Given the description of an element on the screen output the (x, y) to click on. 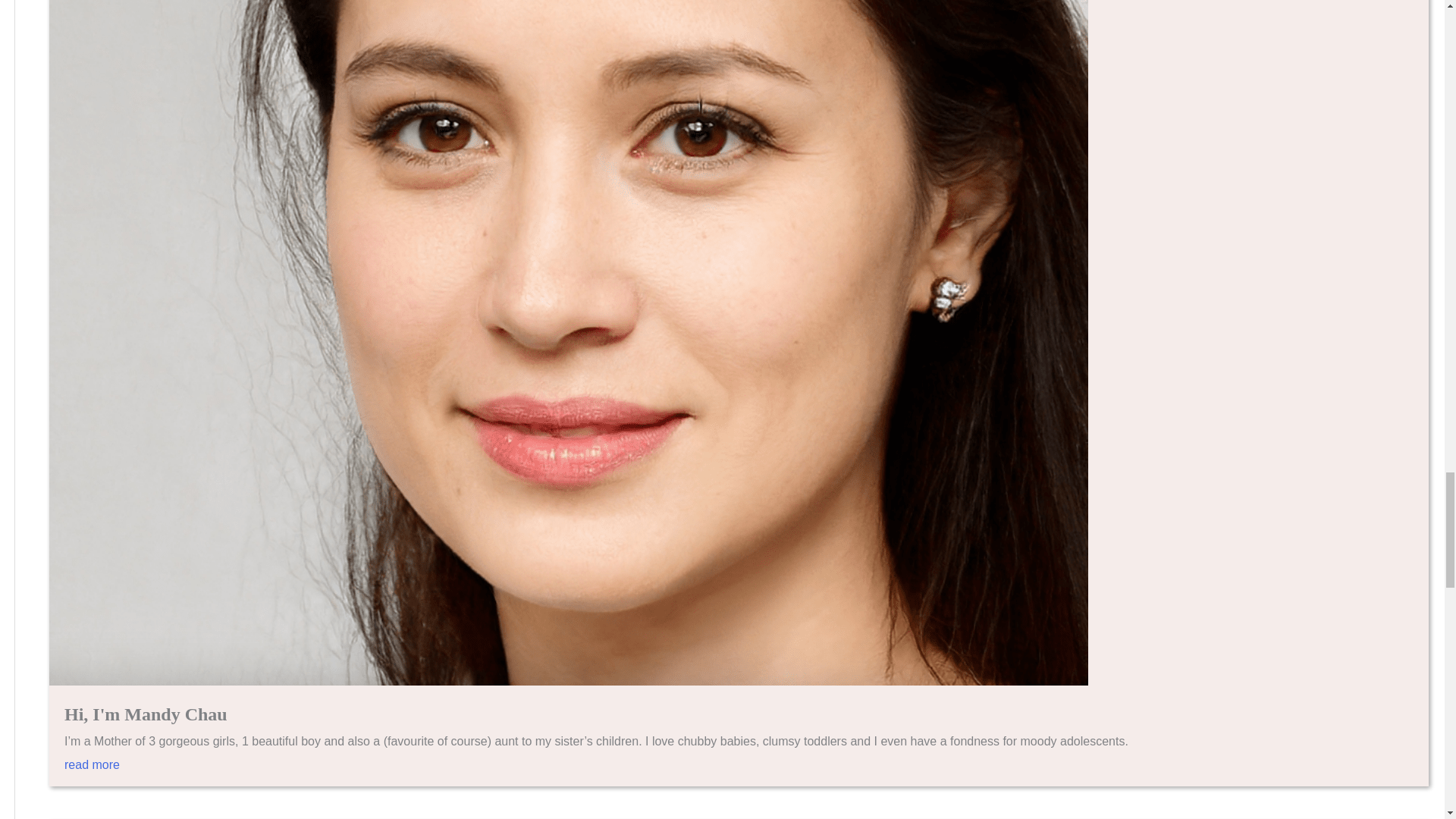
read more (738, 772)
